Given the description of an element on the screen output the (x, y) to click on. 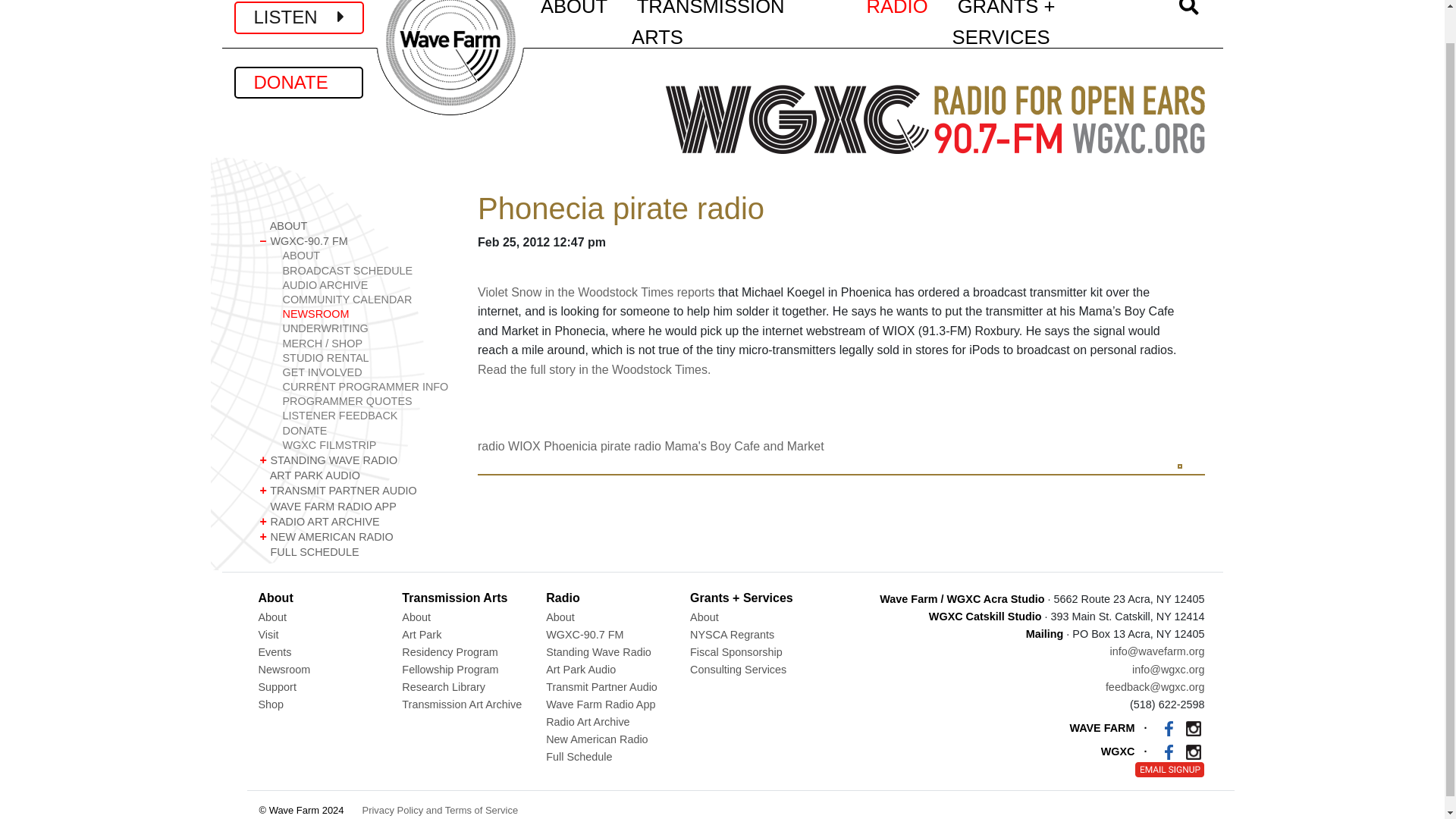
DONATE    (297, 82)
LISTEN     (298, 17)
  ABOUT (355, 225)
BROADCAST SCHEDULE (367, 270)
ABOUT (367, 255)
